Given the description of an element on the screen output the (x, y) to click on. 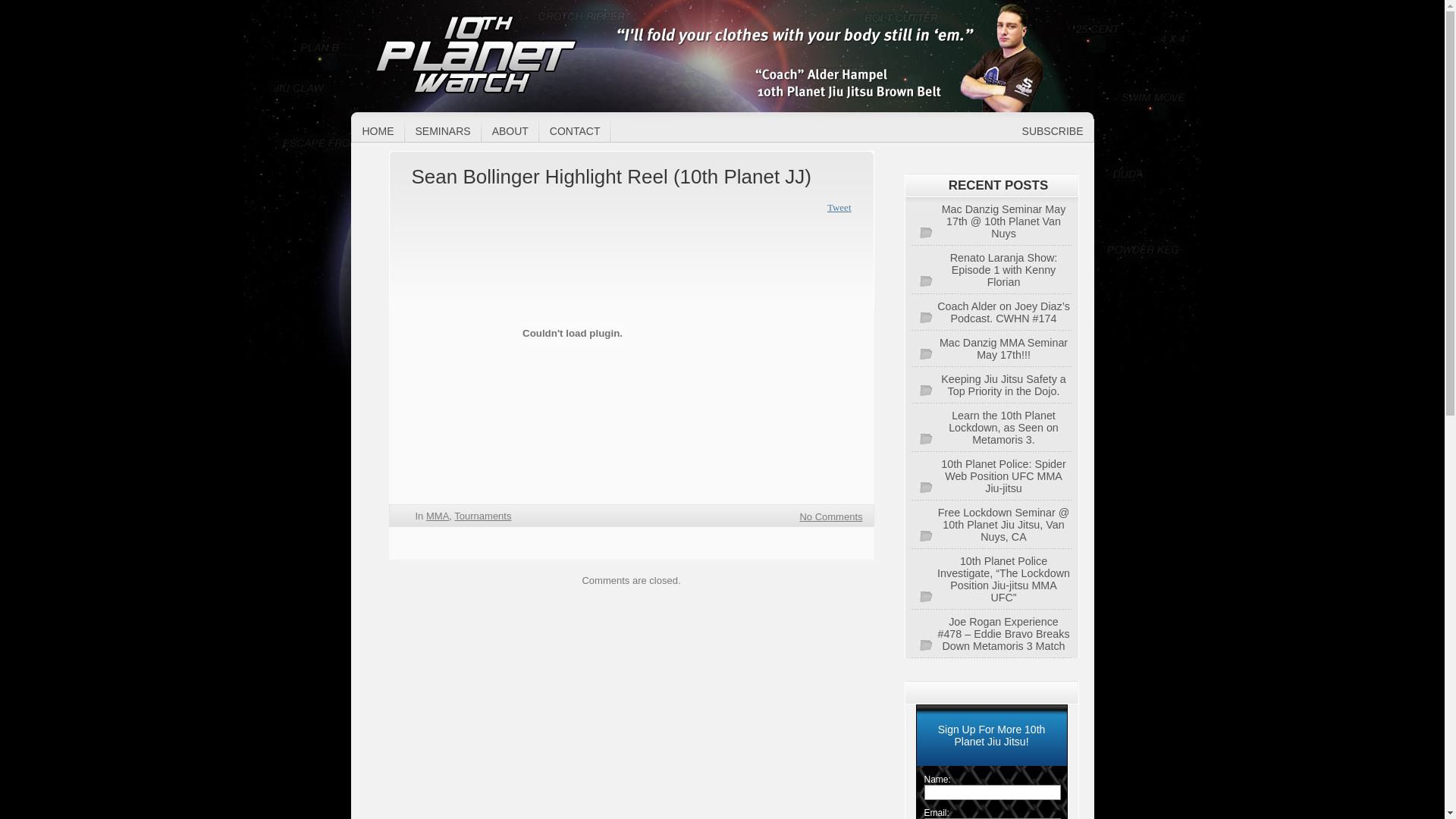
Free Lockdown Seminar @ 10th Planet Jiu Jitsu, Van Nuys, CA Element type: text (991, 524)
Learn the 10th Planet Lockdown, as Seen on Metamoris 3. Element type: text (991, 427)
MMA Element type: text (437, 515)
SUBSCRIBE Element type: text (1049, 131)
Tweet Element type: text (839, 207)
ABOUT Element type: text (510, 131)
Keeping Jiu Jitsu Safety a Top Priority in the Dojo. Element type: text (991, 385)
Sean Bollinger Highlight Reel (10th Planet JJ) Element type: text (611, 176)
CONTACT Element type: text (575, 131)
No Comments Element type: text (830, 516)
SEMINARS Element type: text (442, 131)
Mac Danzig Seminar May 17th @ 10th Planet Van Nuys Element type: text (991, 221)
HOME Element type: text (377, 131)
Tournaments Element type: text (482, 515)
Mac Danzig MMA Seminar May 17th!!! Element type: text (991, 348)
Renato Laranja Show: Episode 1 with Kenny Florian Element type: text (991, 269)
10th Planet Police: Spider Web Position UFC MMA Jiu-jitsu Element type: text (991, 475)
